Given the description of an element on the screen output the (x, y) to click on. 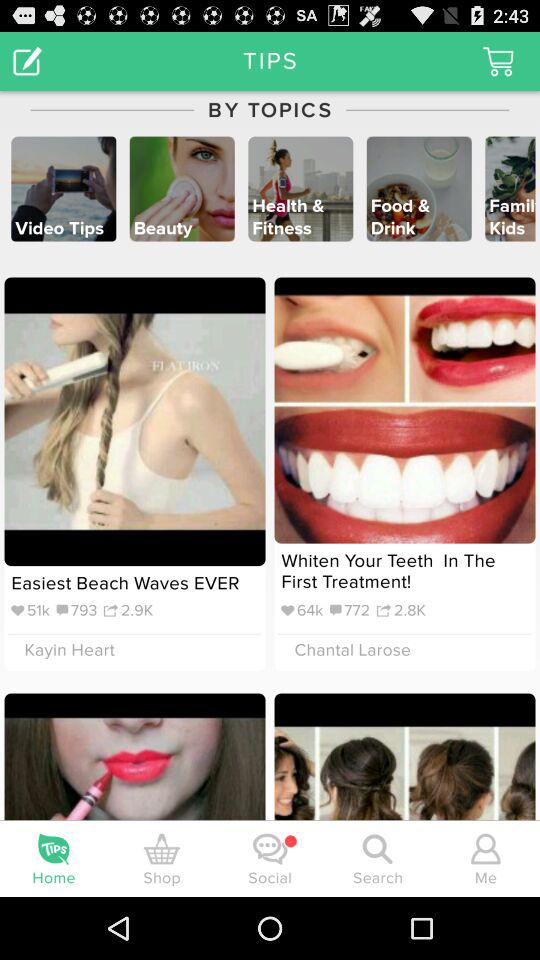
go to basket (498, 60)
